Given the description of an element on the screen output the (x, y) to click on. 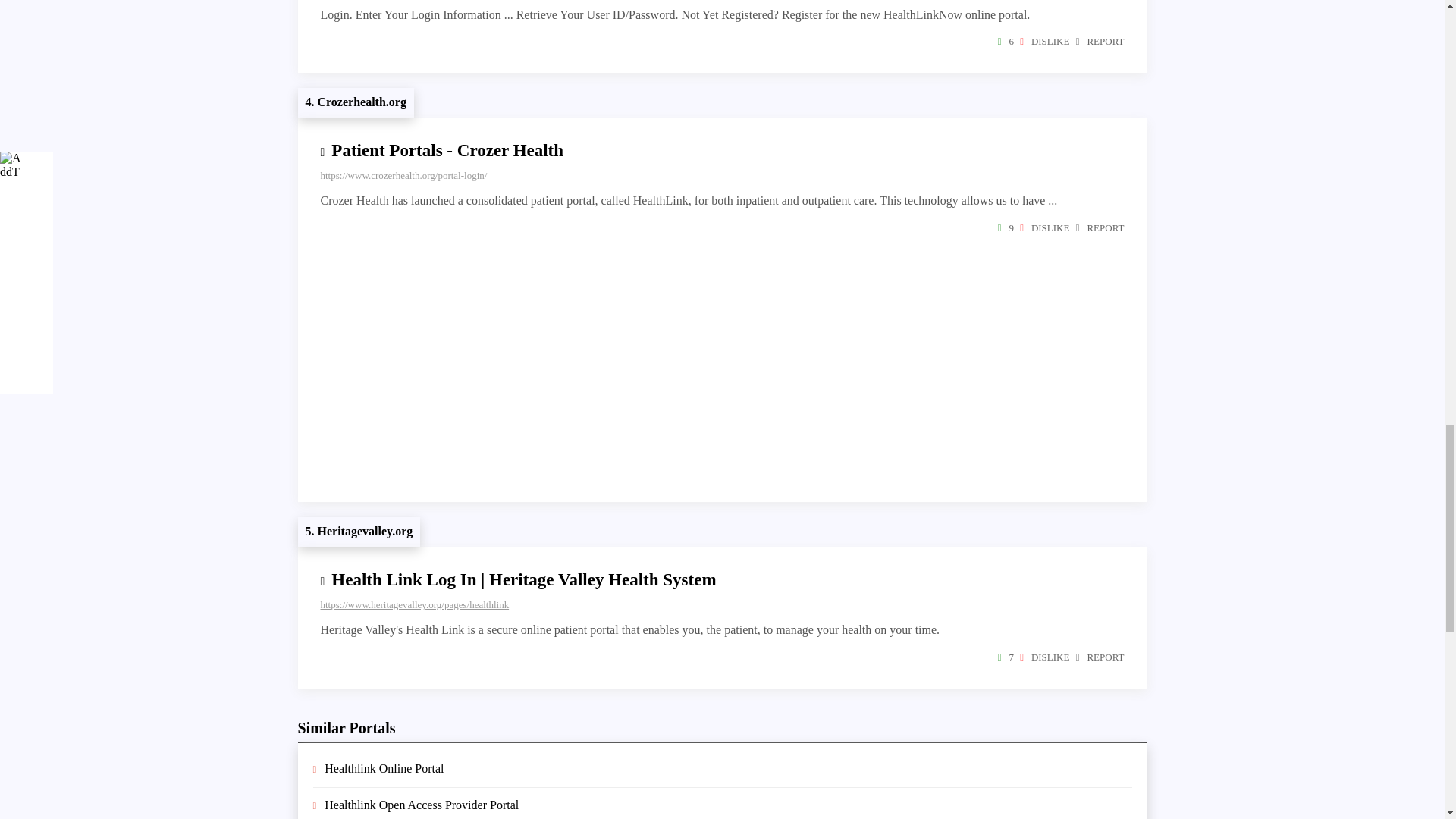
Healthlink Open Access Provider Portal (421, 804)
Patient Portals - Crozer Health (447, 149)
Healthlink Online Portal (384, 768)
